Given the description of an element on the screen output the (x, y) to click on. 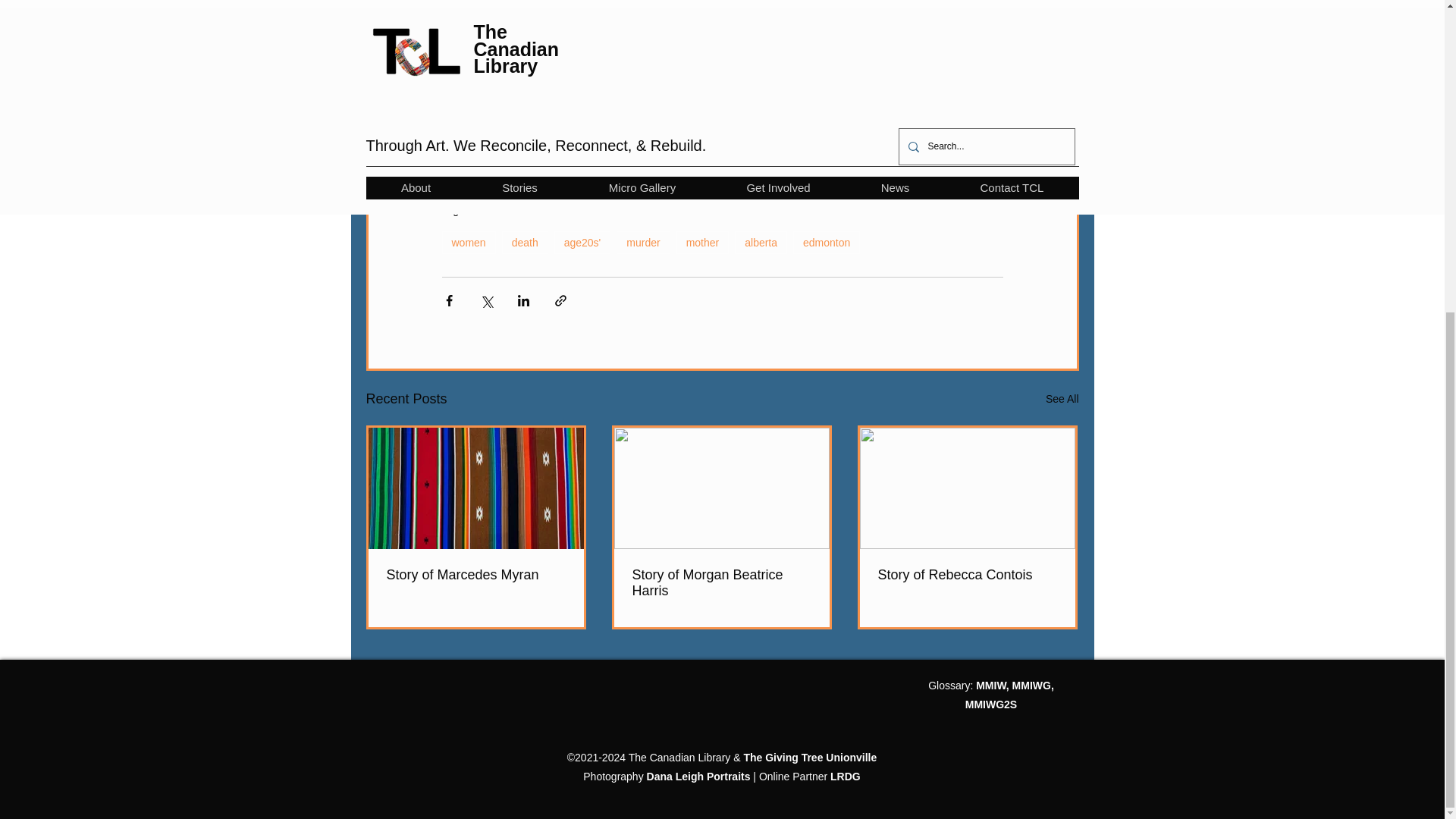
mother (703, 241)
women (468, 241)
See All (1061, 399)
edmonton (826, 241)
Story of Marcedes Myran (476, 575)
death (525, 241)
age20s' (582, 241)
murder (642, 241)
alberta (761, 241)
